Given the description of an element on the screen output the (x, y) to click on. 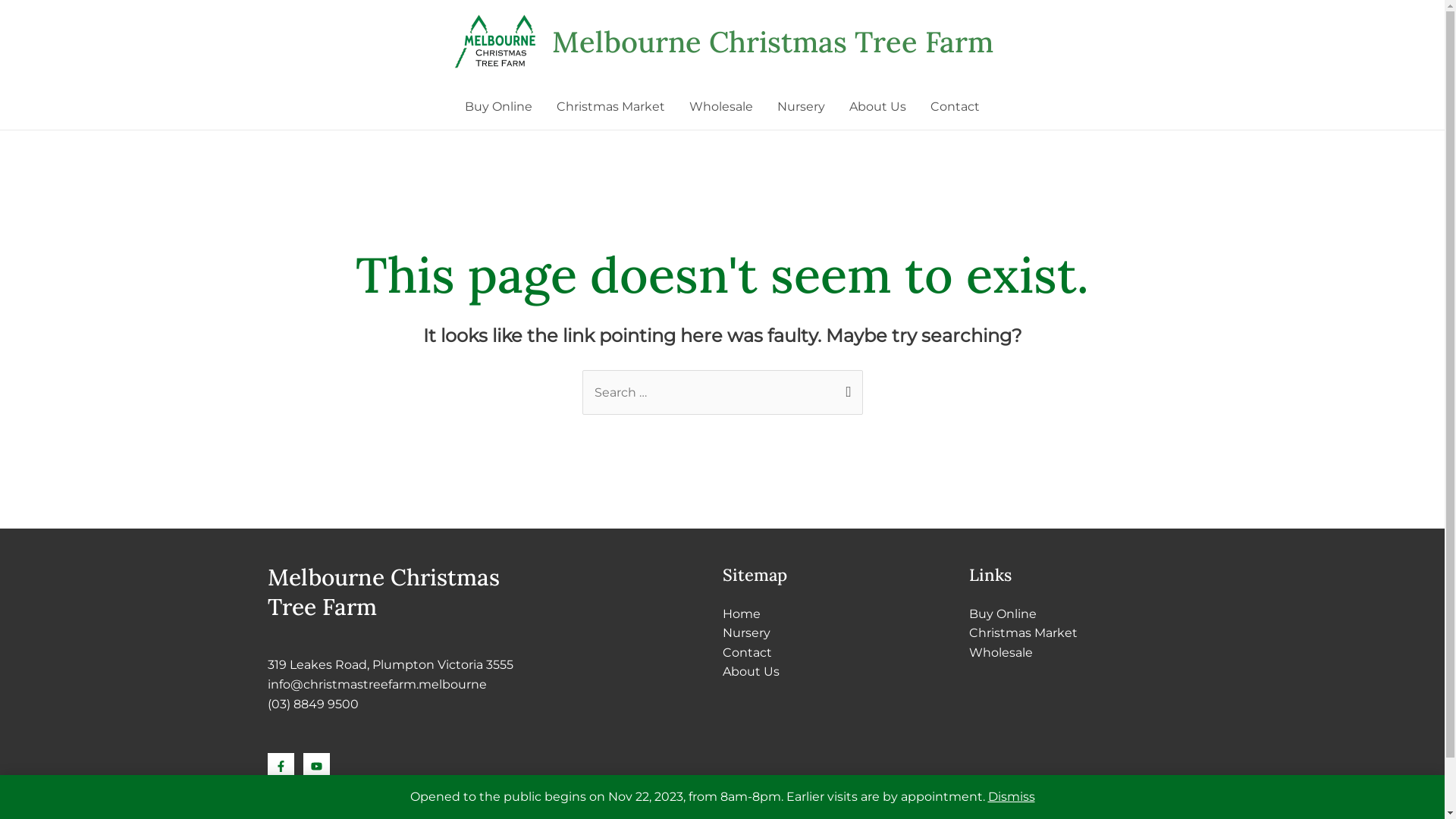
About Us Element type: text (877, 106)
Christmas Market Element type: text (610, 106)
Melbourne Christmas Tree Farm Element type: text (772, 41)
Home Element type: text (740, 613)
Wholesale Element type: text (1000, 652)
Buy Online Element type: text (1002, 613)
319 Leakes Road, Plumpton Victoria 3555 Element type: text (389, 664)
Buy Online Element type: text (498, 106)
Contact Element type: text (746, 652)
Nursery Element type: text (801, 106)
Contact Element type: text (954, 106)
Search Element type: text (845, 385)
Nursery Element type: text (745, 632)
About Us Element type: text (749, 671)
info@christmastreefarm.melbourne Element type: text (376, 684)
Wholesale Element type: text (721, 106)
Christmas Market Element type: text (1023, 632)
Dismiss Element type: text (1010, 796)
(03) 8849 9500 Element type: text (311, 703)
